Given the description of an element on the screen output the (x, y) to click on. 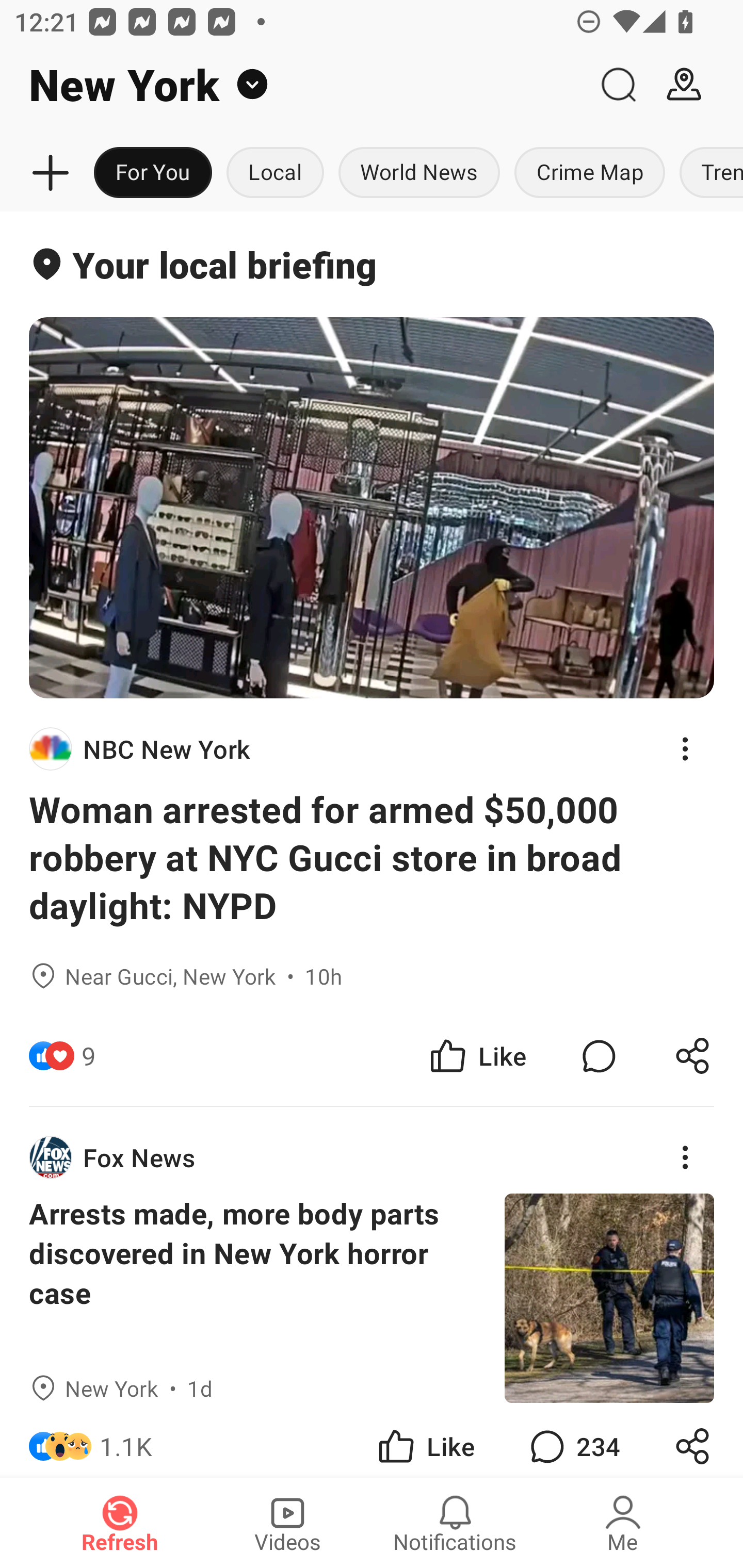
New York (292, 84)
For You (152, 172)
Local (275, 172)
World News (419, 172)
Crime Map (589, 172)
9 (88, 1055)
Like (476, 1055)
1.1K (125, 1440)
Like (425, 1440)
234 (572, 1440)
Videos (287, 1522)
Notifications (455, 1522)
Me (622, 1522)
